Given the description of an element on the screen output the (x, y) to click on. 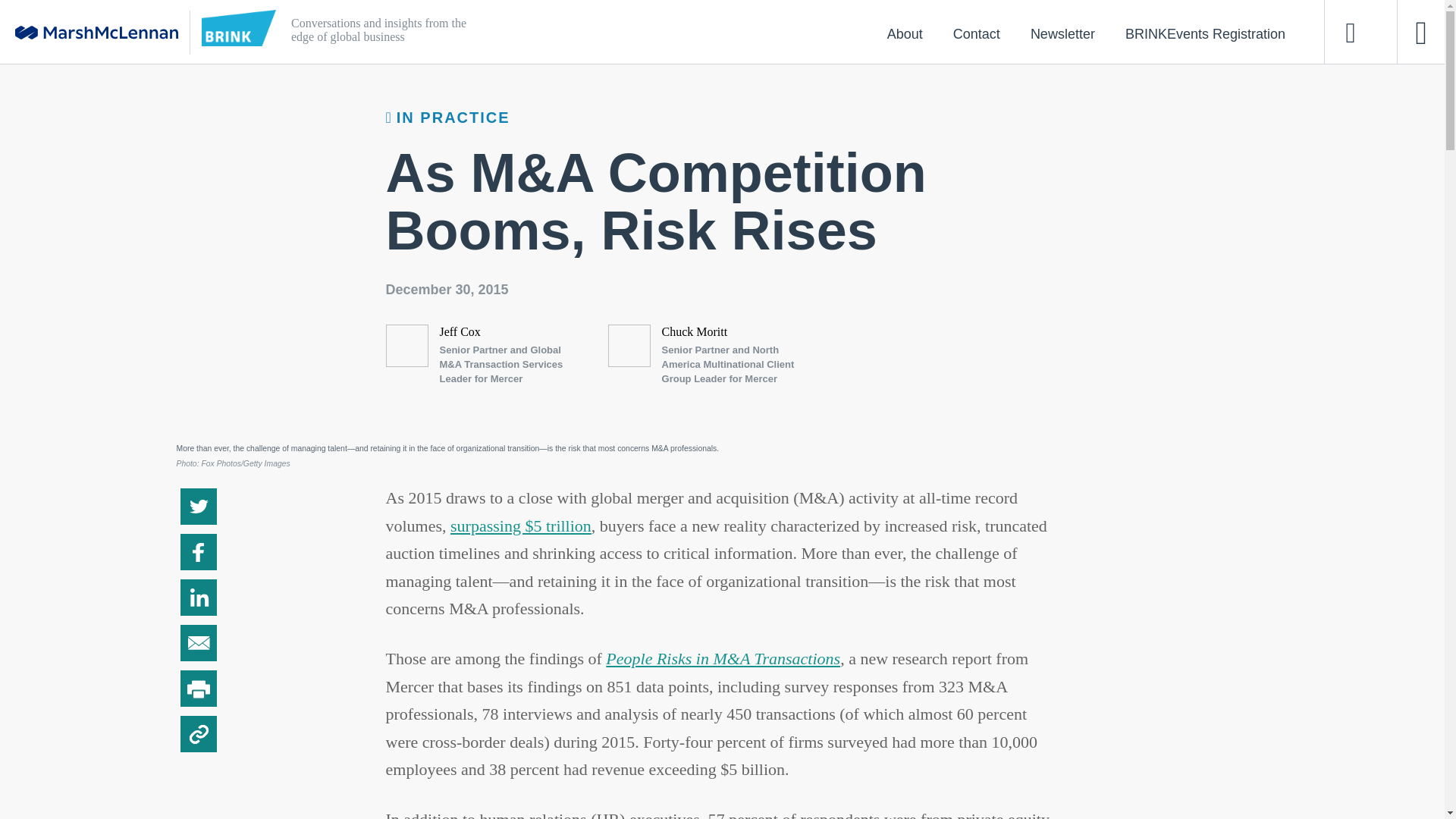
About (904, 33)
Chuck Moritt (695, 331)
BRINKEvents Registration (1204, 33)
Jeff Cox (459, 331)
IN PRACTICE (447, 117)
Conversations and insights from the edge of global business (653, 32)
Contact (975, 33)
Newsletter (1061, 33)
